Given the description of an element on the screen output the (x, y) to click on. 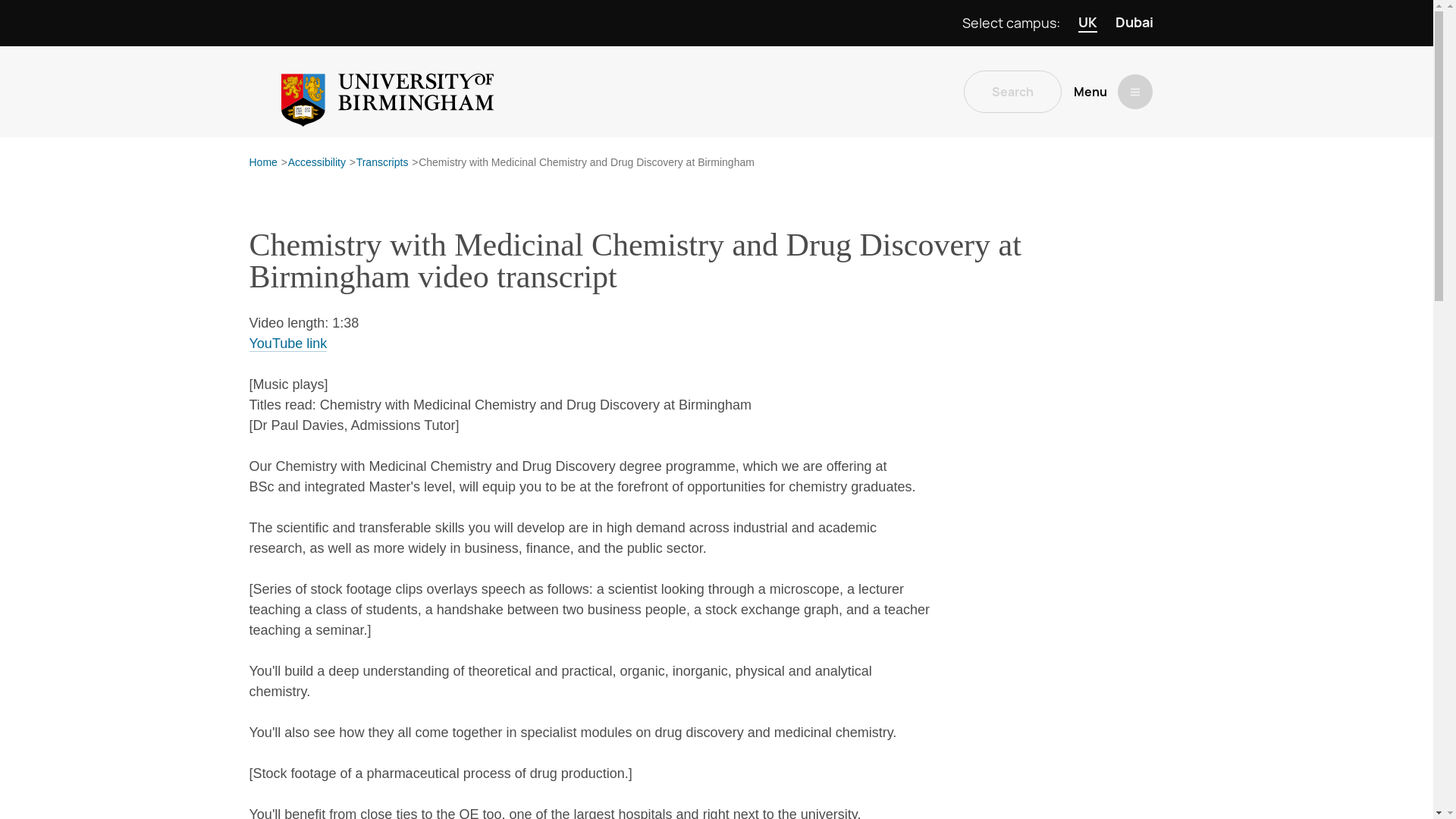
Transcripts (382, 163)
UK (1087, 23)
Search (1012, 91)
Dubai (1134, 23)
YouTube link (287, 343)
Home (262, 163)
Accessibility (317, 163)
